Given the description of an element on the screen output the (x, y) to click on. 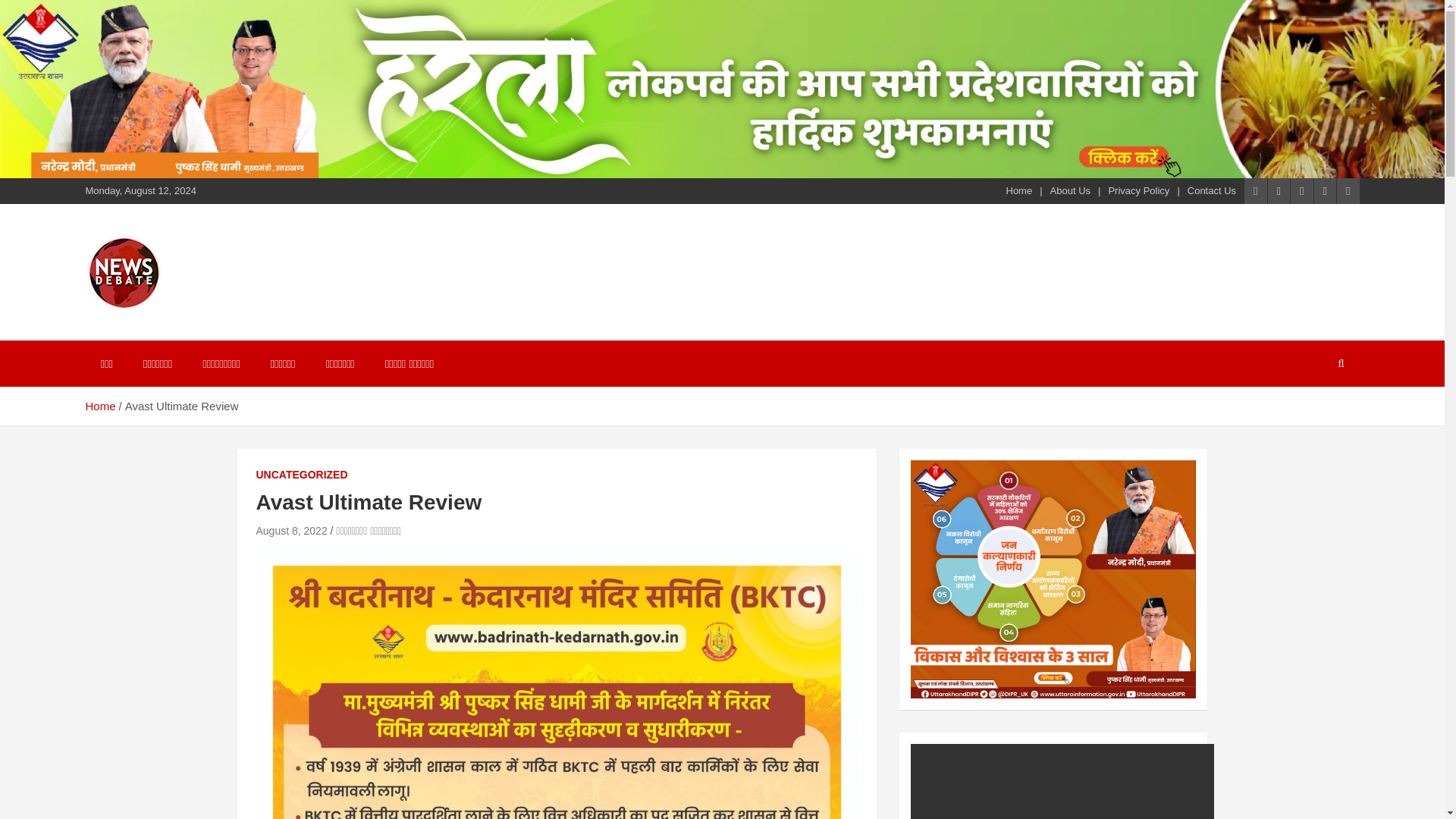
News Debate (178, 329)
Home (99, 405)
Home (1019, 191)
Privacy Policy (1138, 191)
UNCATEGORIZED (301, 475)
August 8, 2022 (291, 530)
About Us (1069, 191)
Avast Ultimate Review (291, 530)
Contact Us (1212, 191)
